Given the description of an element on the screen output the (x, y) to click on. 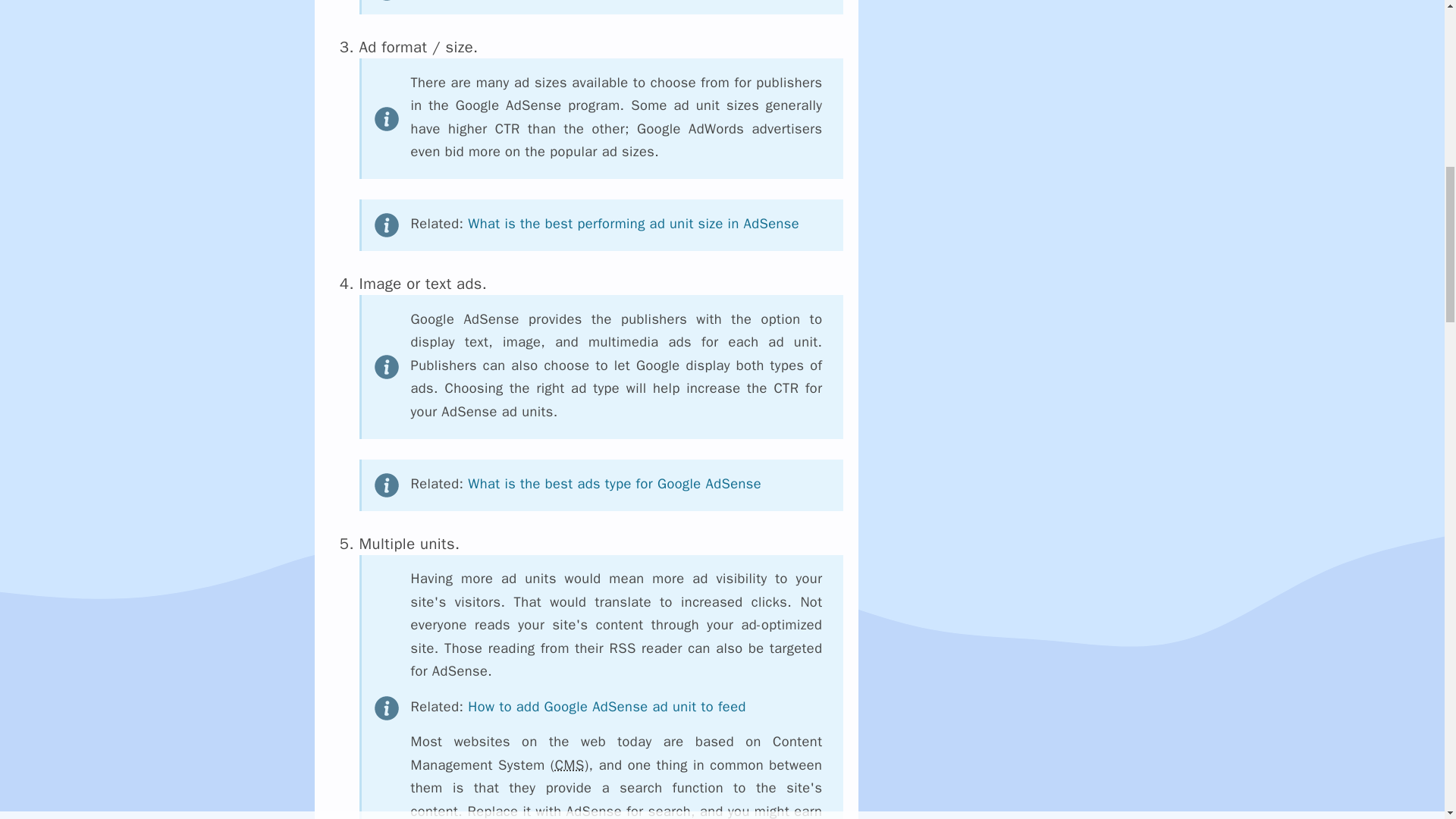
google-adsense:image-or-text (614, 483)
google-adsense:best-size (633, 222)
google-adsense:monetize-feed (606, 705)
Content Management System (569, 764)
